Given the description of an element on the screen output the (x, y) to click on. 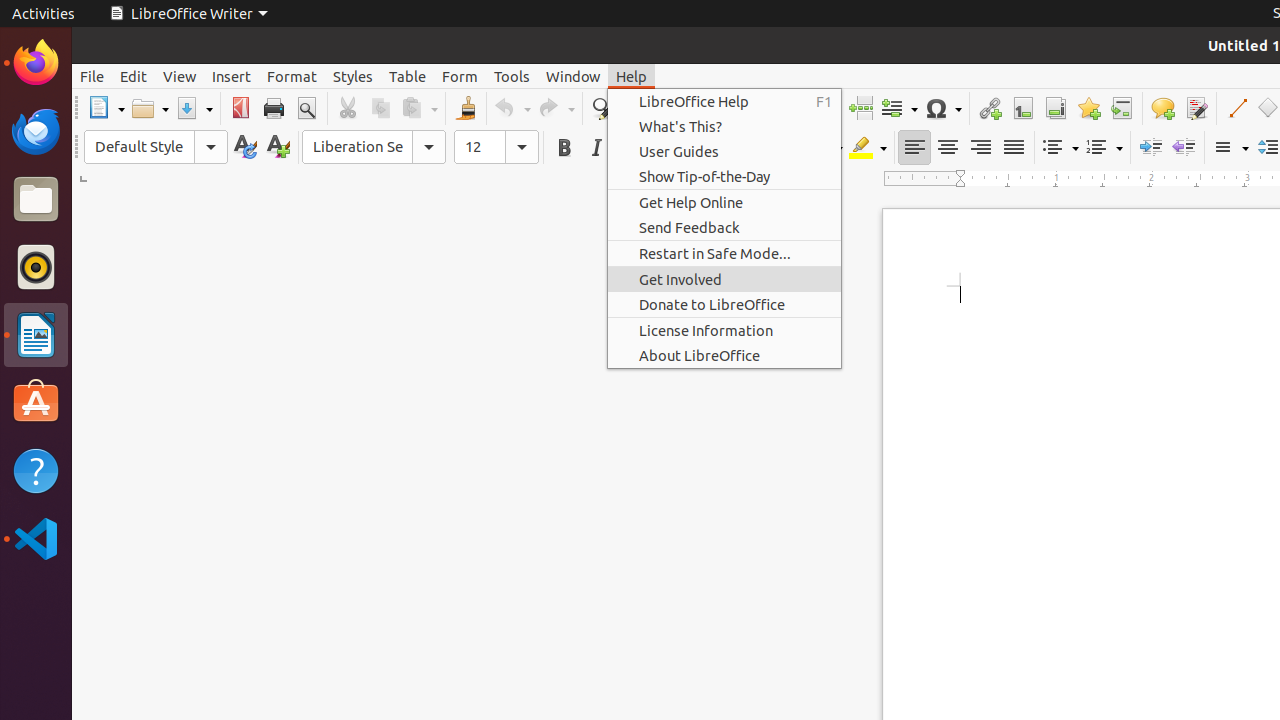
Numbering Element type: push-button (1104, 147)
LibreOffice Writer Element type: push-button (36, 334)
Comment Element type: push-button (1162, 108)
Visual Studio Code Element type: push-button (36, 538)
LibreOffice Help Element type: menu-item (724, 101)
